Given the description of an element on the screen output the (x, y) to click on. 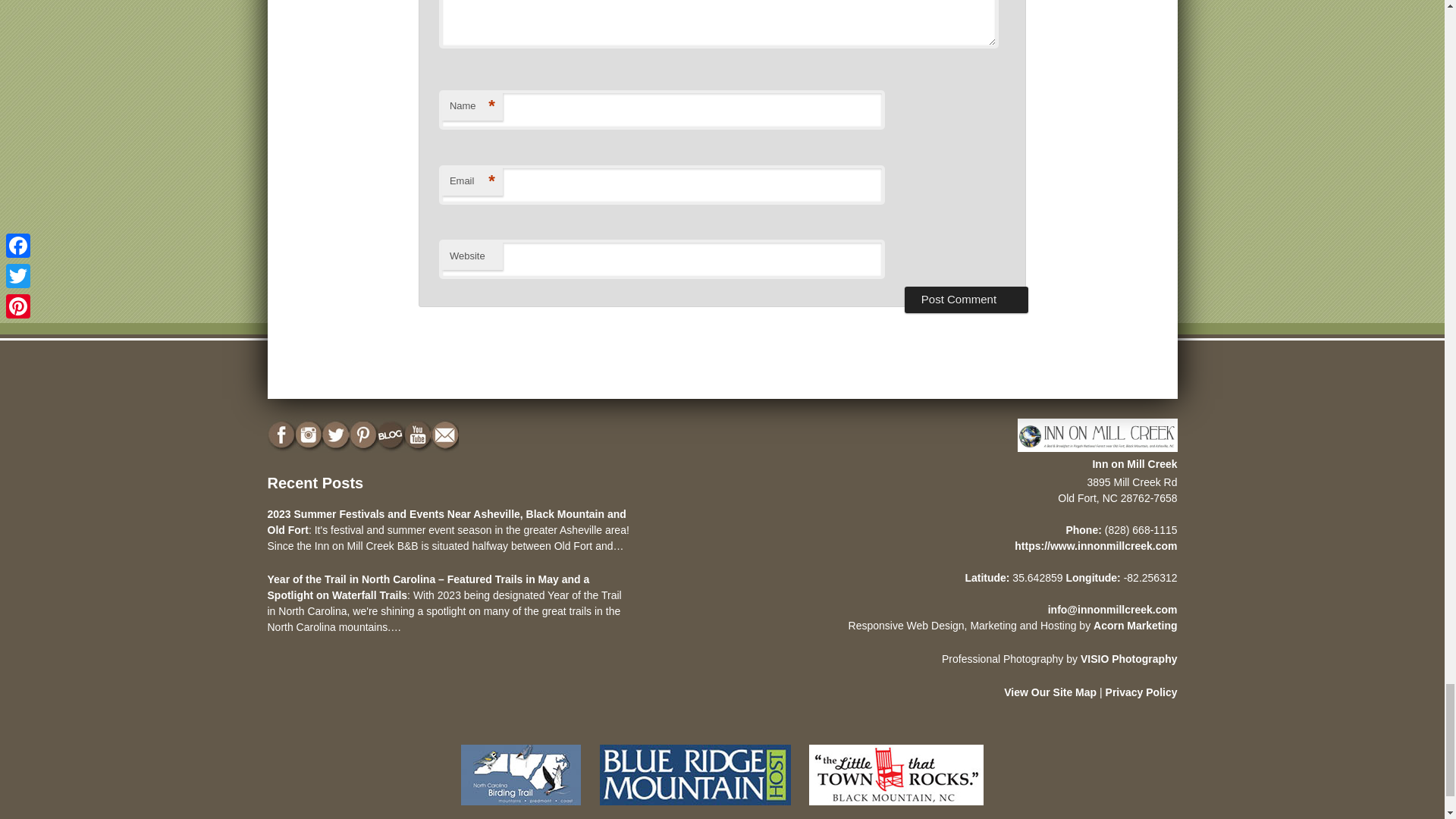
Post Comment (965, 299)
Follow us on Twitter (336, 435)
View our YouTube Channel (418, 435)
Like us on Facebook (281, 435)
Pin us on Pinterest (363, 435)
E-Mail Us (445, 435)
Read our Blog (390, 435)
Instagram (309, 435)
